Given the description of an element on the screen output the (x, y) to click on. 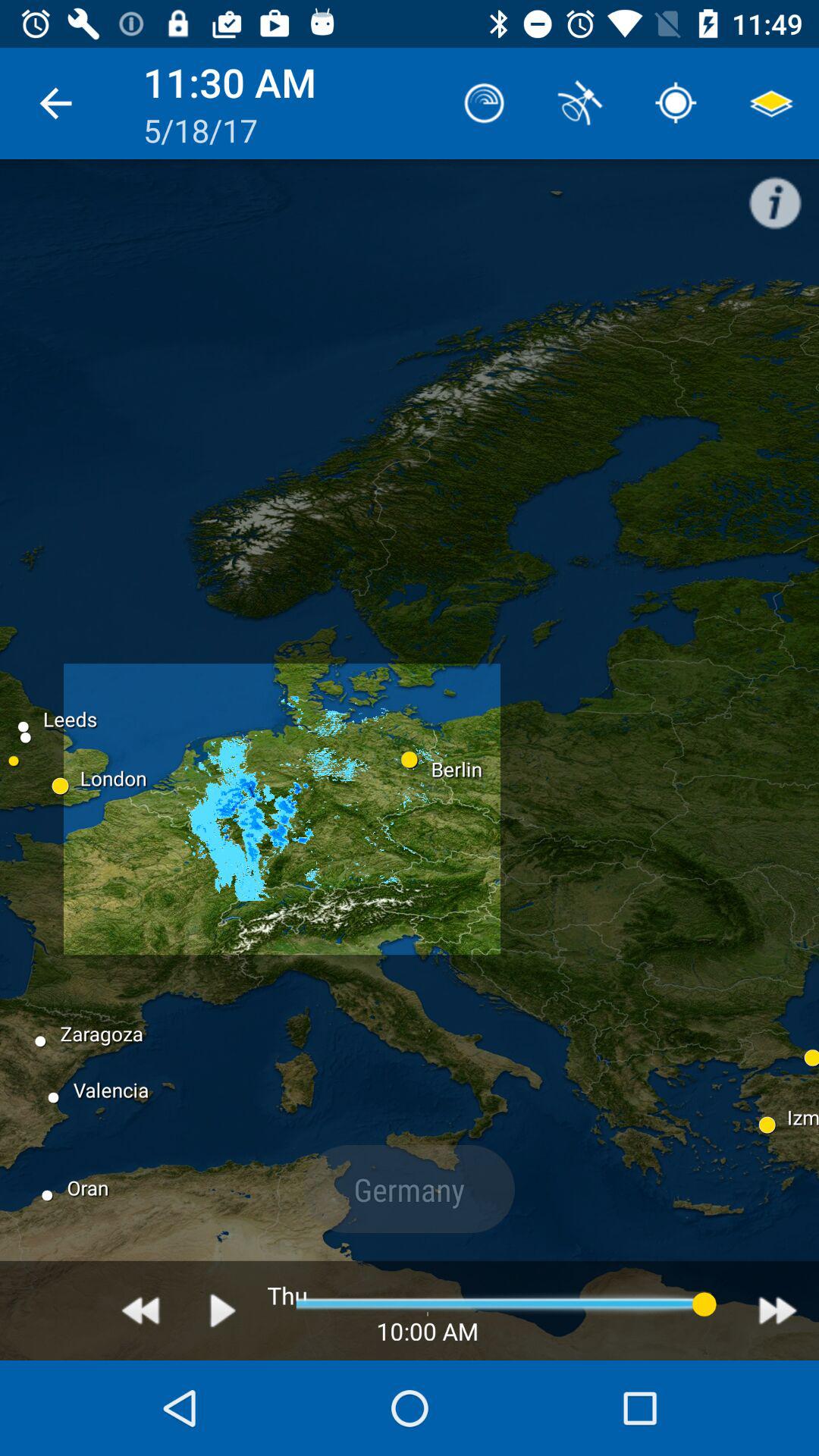
play interactive map (223, 1310)
